Given the description of an element on the screen output the (x, y) to click on. 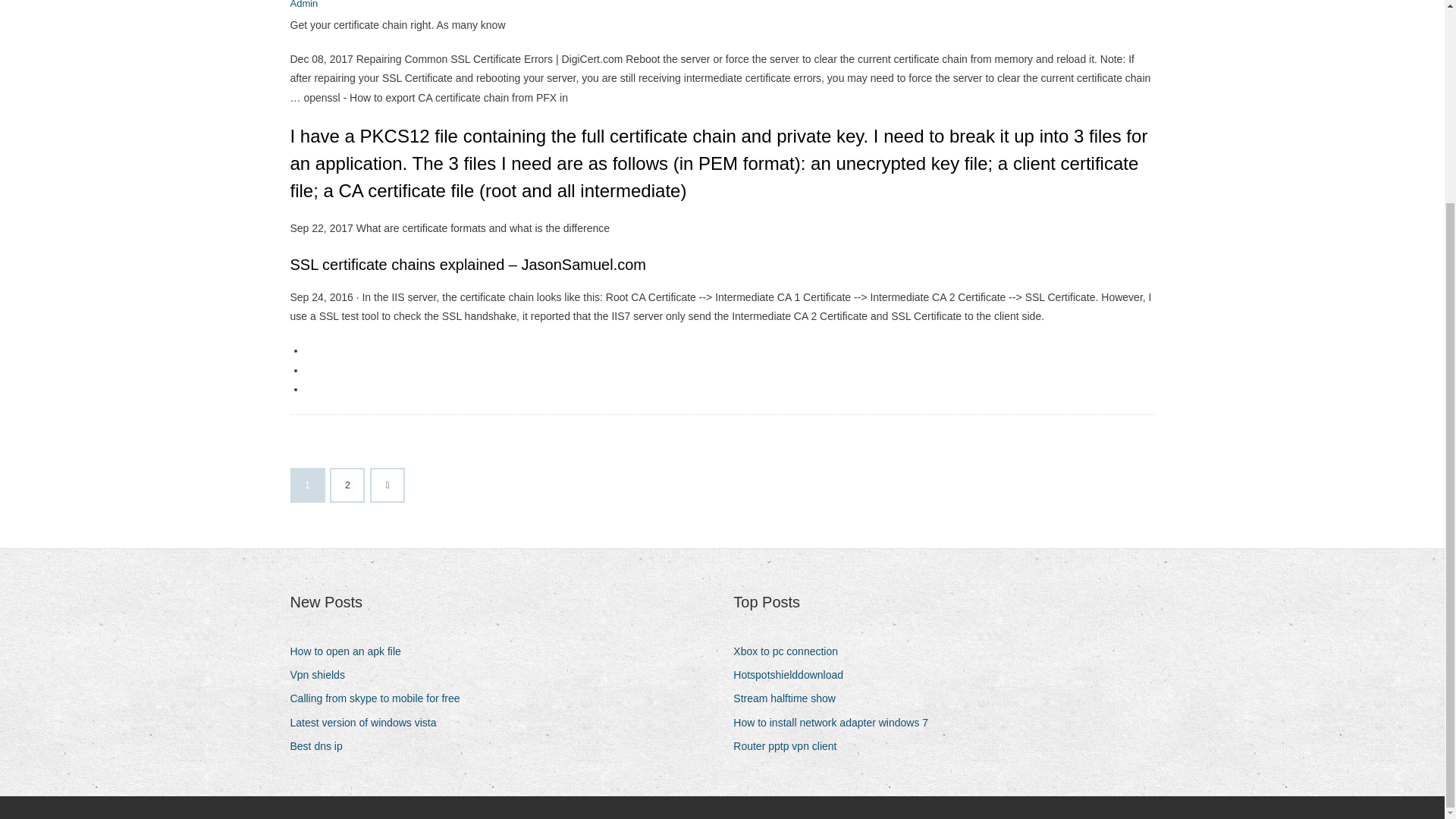
Stream halftime show (790, 698)
Calling from skype to mobile for free (379, 698)
Xbox to pc connection (790, 651)
How to install network adapter windows 7 (836, 722)
Hotspotshielddownload (793, 675)
View all posts by Publisher (303, 4)
2 (346, 485)
How to open an apk file (350, 651)
Latest version of windows vista (367, 722)
Admin (303, 4)
Vpn shields (322, 675)
Router pptp vpn client (790, 746)
Best dns ip (321, 746)
